Given the description of an element on the screen output the (x, y) to click on. 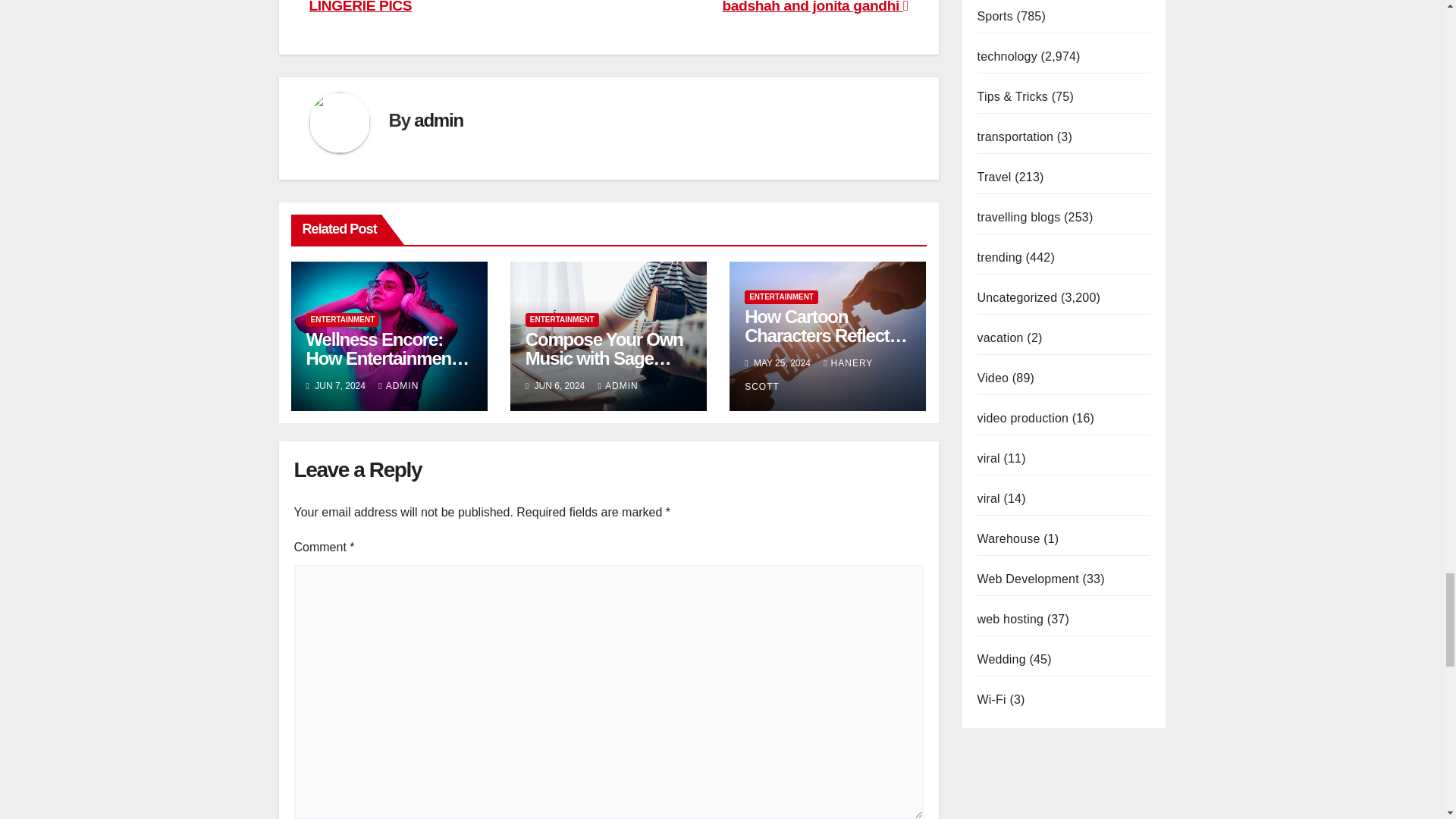
Permalink to: Compose Your Own Music with Sage Music (603, 358)
